Given the description of an element on the screen output the (x, y) to click on. 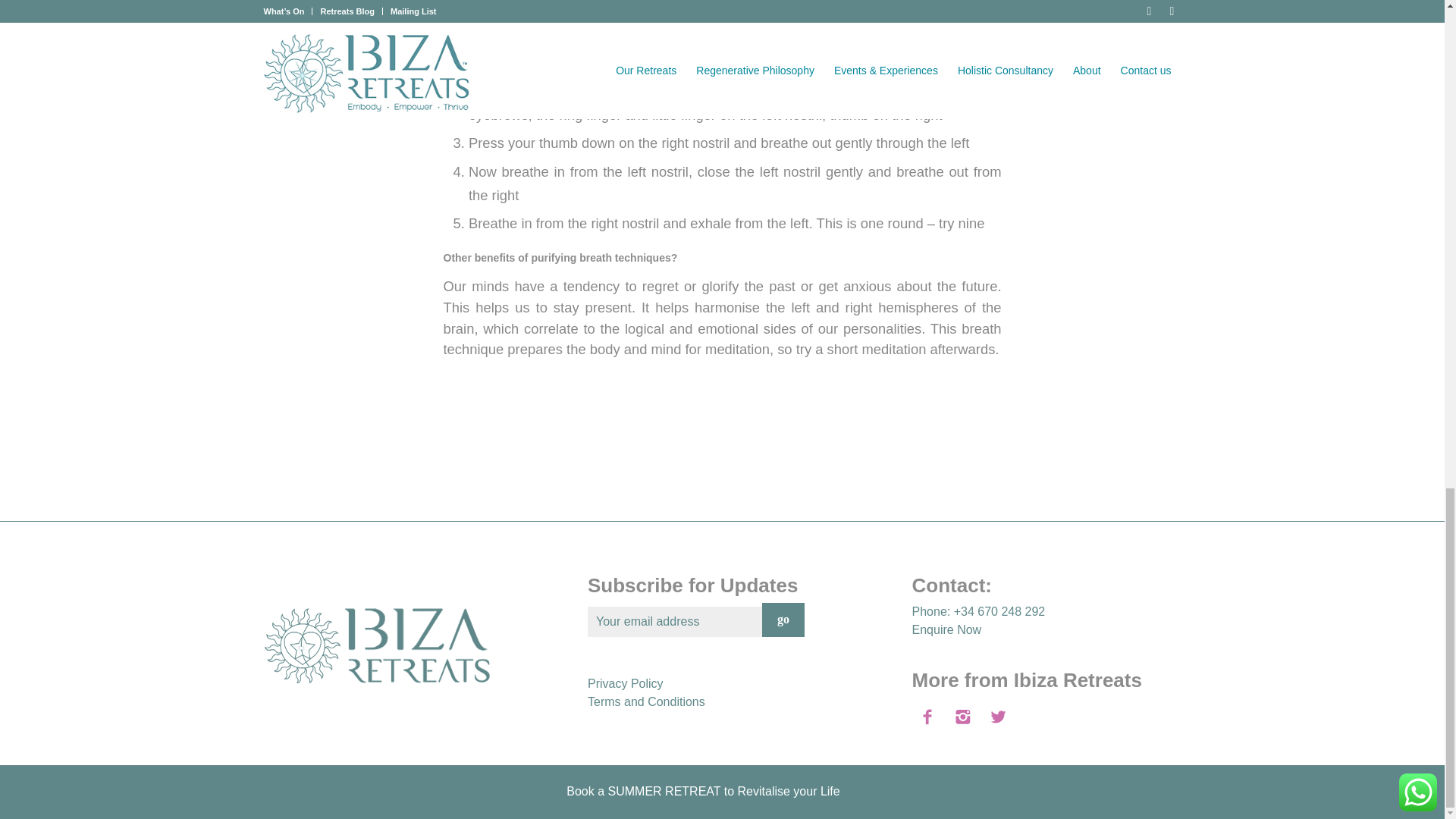
go (783, 619)
Instagram (1169, 796)
Facebook (1146, 796)
Enquire Now (946, 629)
go (783, 619)
Terms and Conditions (646, 701)
Privacy Policy (625, 683)
